Given the description of an element on the screen output the (x, y) to click on. 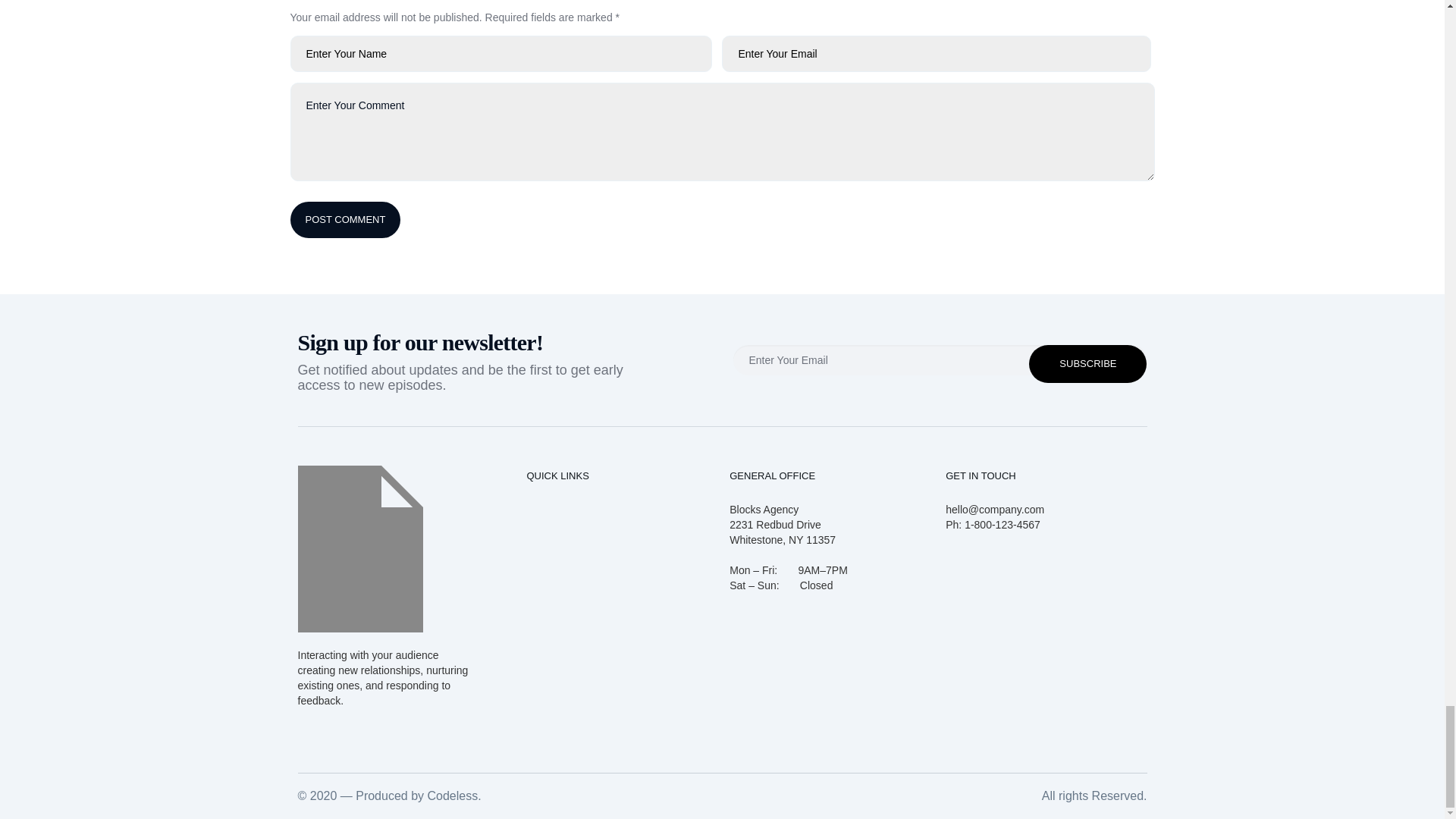
Post Comment (344, 219)
subscribe (1088, 362)
